Given the description of an element on the screen output the (x, y) to click on. 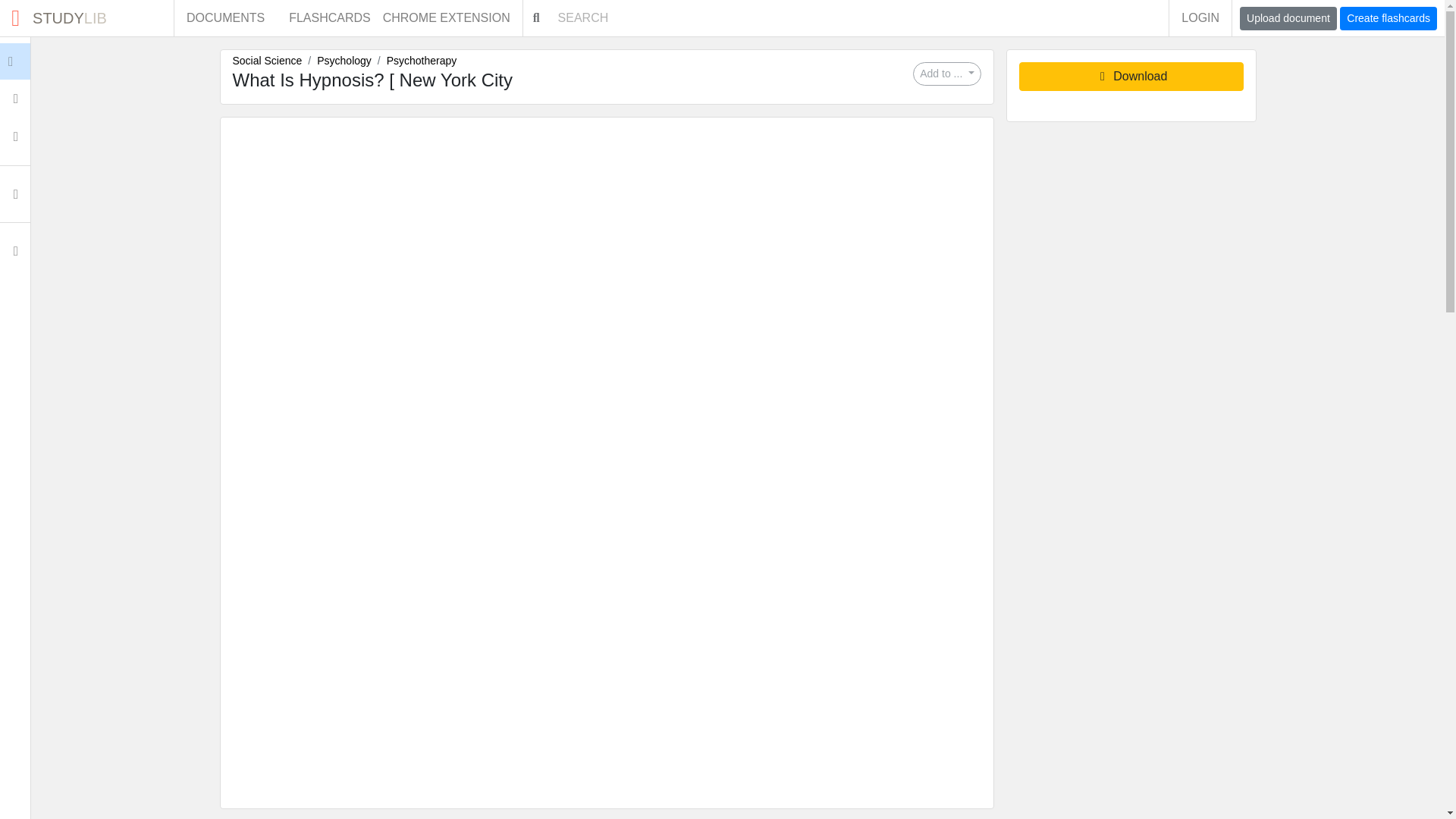
Create flashcards (1388, 18)
Add to ... (946, 73)
Psychotherapy (422, 60)
Social Science (266, 60)
CHROME EXTENSION (452, 18)
FLASHCARDS (329, 18)
DOCUMENTS (225, 18)
Psychology (344, 60)
Login (45, 61)
LOGIN (1200, 18)
